Given the description of an element on the screen output the (x, y) to click on. 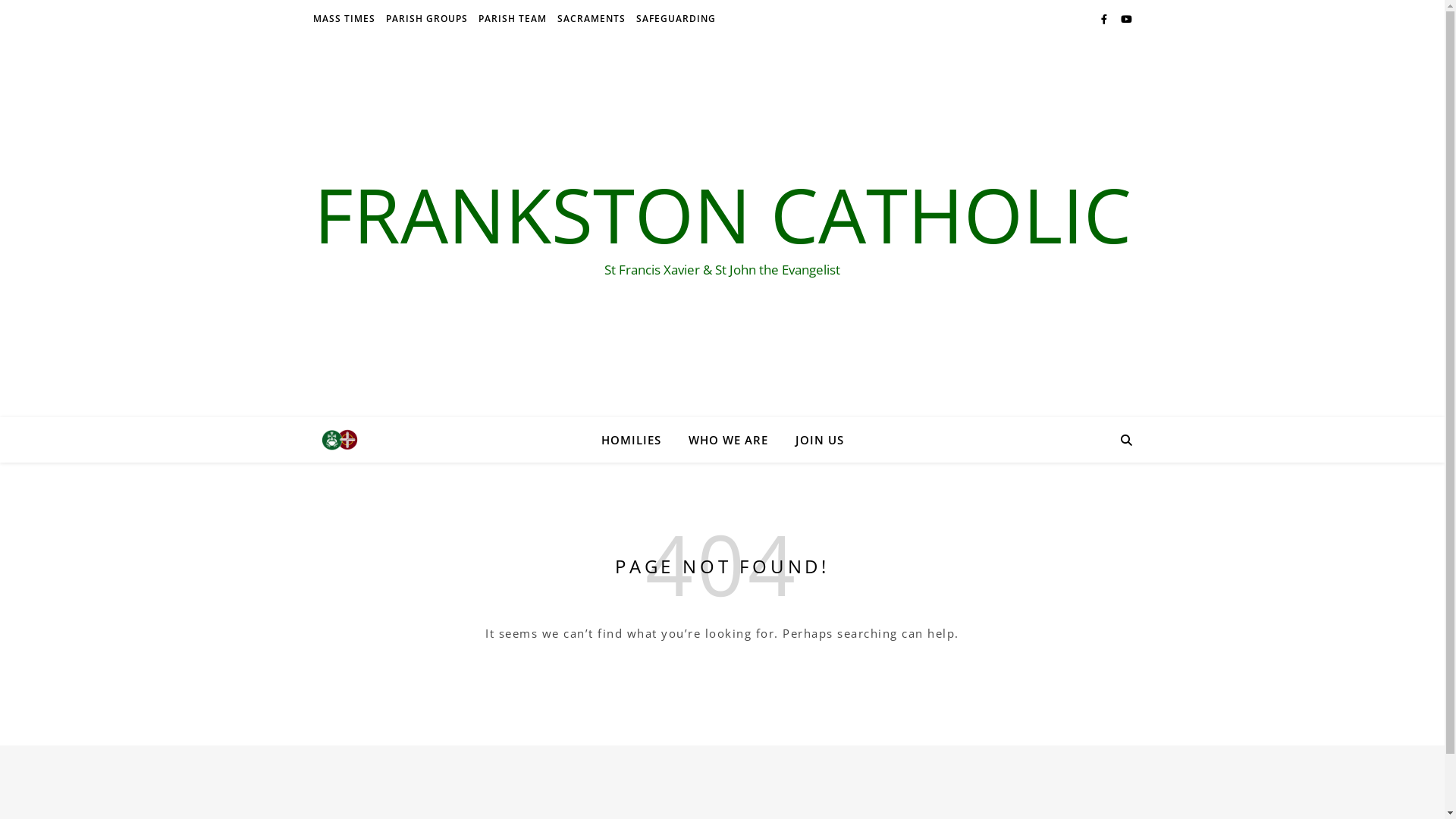
HOMILIES Element type: text (636, 439)
MASS TIMES Element type: text (345, 18)
JOIN US Element type: text (812, 439)
PARISH TEAM Element type: text (512, 18)
Frankston Catholic Element type: hover (338, 439)
FRANKSTON CATHOLIC Element type: text (722, 213)
SACRAMENTS Element type: text (591, 18)
WHO WE ARE Element type: text (728, 439)
PARISH GROUPS Element type: text (426, 18)
SAFEGUARDING Element type: text (673, 18)
